Given the description of an element on the screen output the (x, y) to click on. 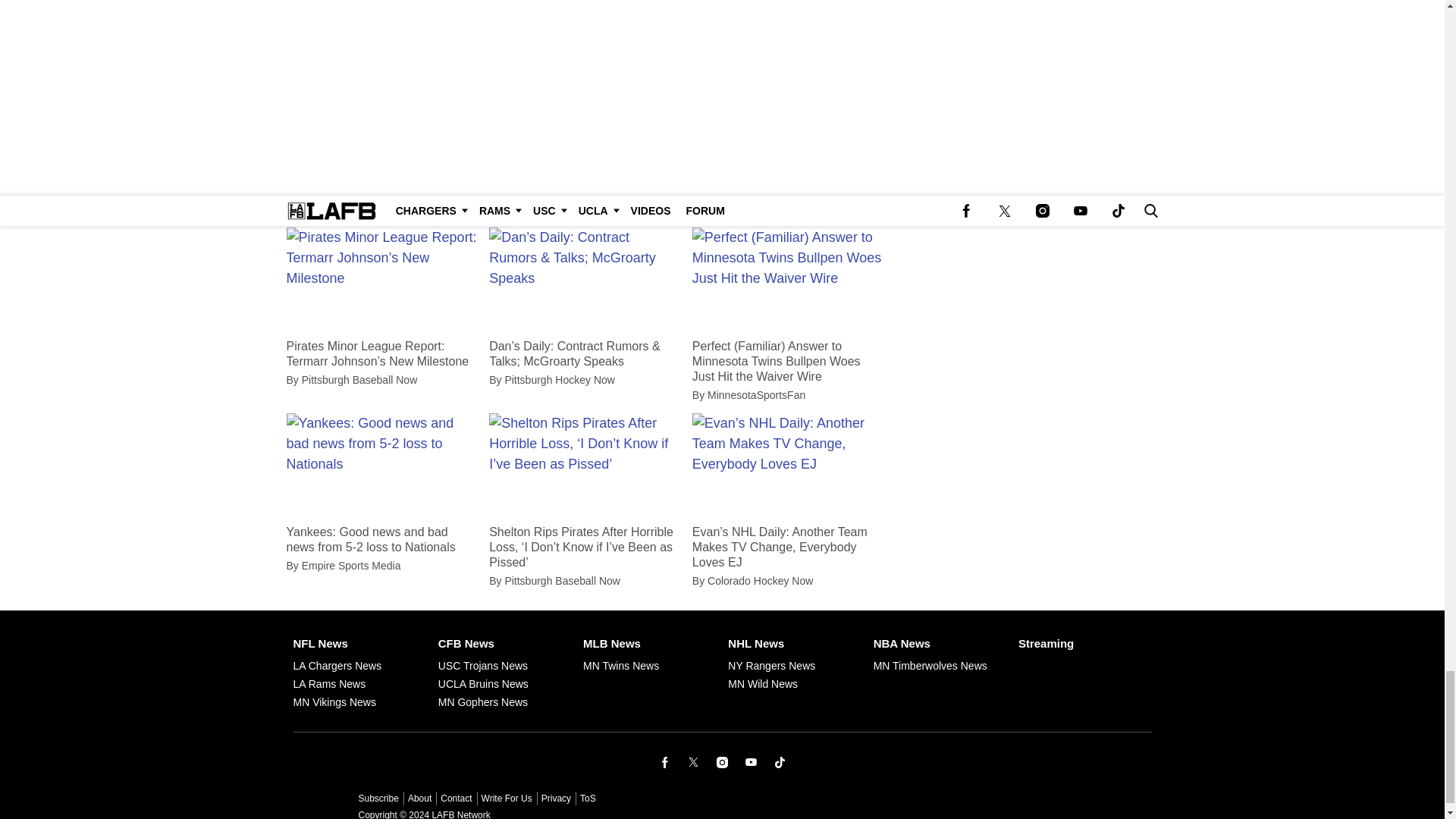
Subscribe to our YouTube channel (750, 762)
Follow us on Facebook (665, 762)
Follow us on Instagram (722, 762)
Follow us on Twitter (693, 762)
Connect with us on TikTok (780, 762)
